Given the description of an element on the screen output the (x, y) to click on. 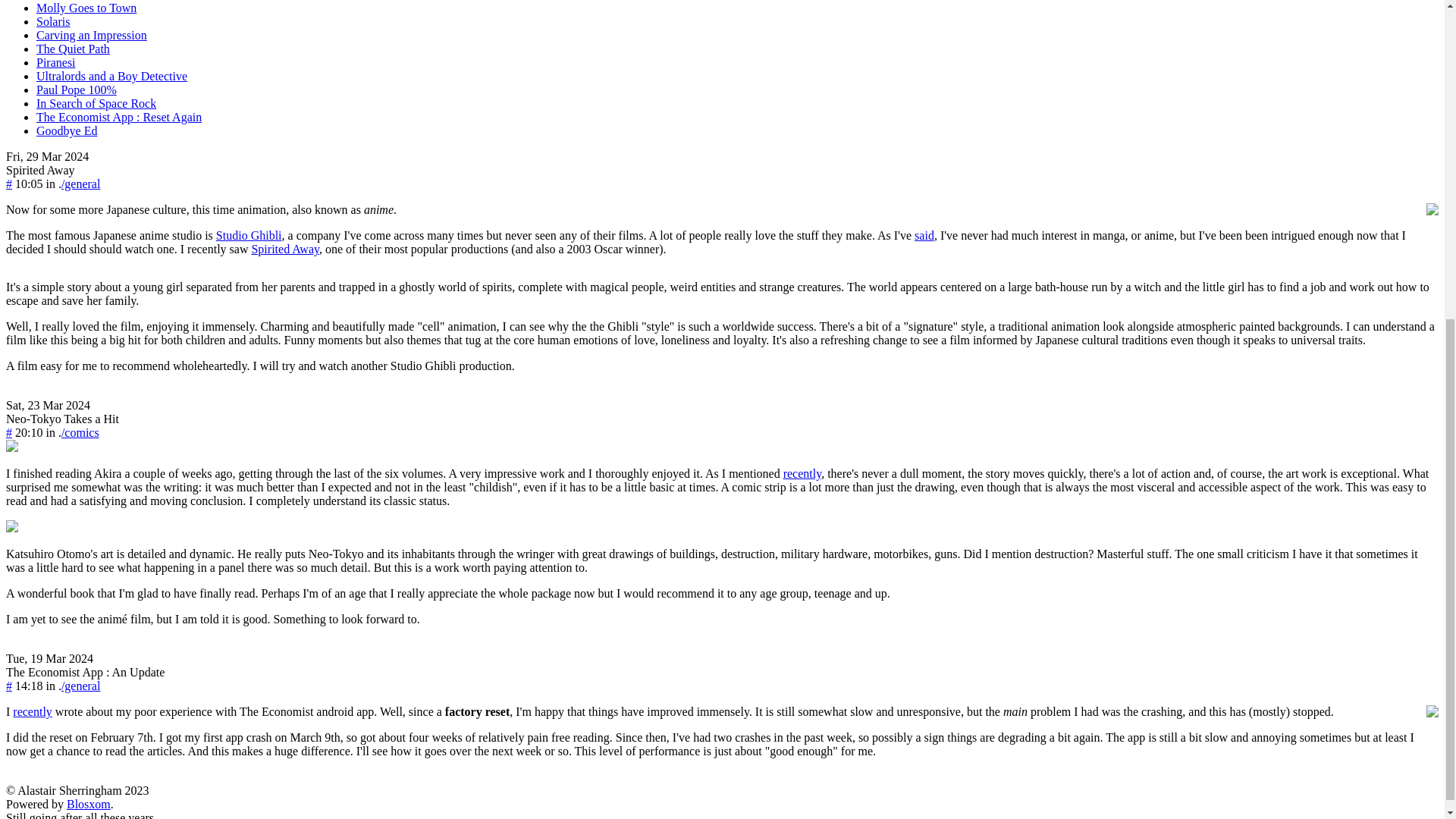
Molly Goes to Town (86, 7)
Solaris (52, 21)
Studio Ghibli (248, 235)
Spirited Away (40, 169)
Goodbye Ed (66, 130)
The Economist App : Reset Again (119, 116)
Piranesi (55, 62)
Carving an Impression (91, 34)
The Quiet Path (73, 48)
Ultralords and a Boy Detective (111, 75)
In Search of Space Rock (95, 103)
